Given the description of an element on the screen output the (x, y) to click on. 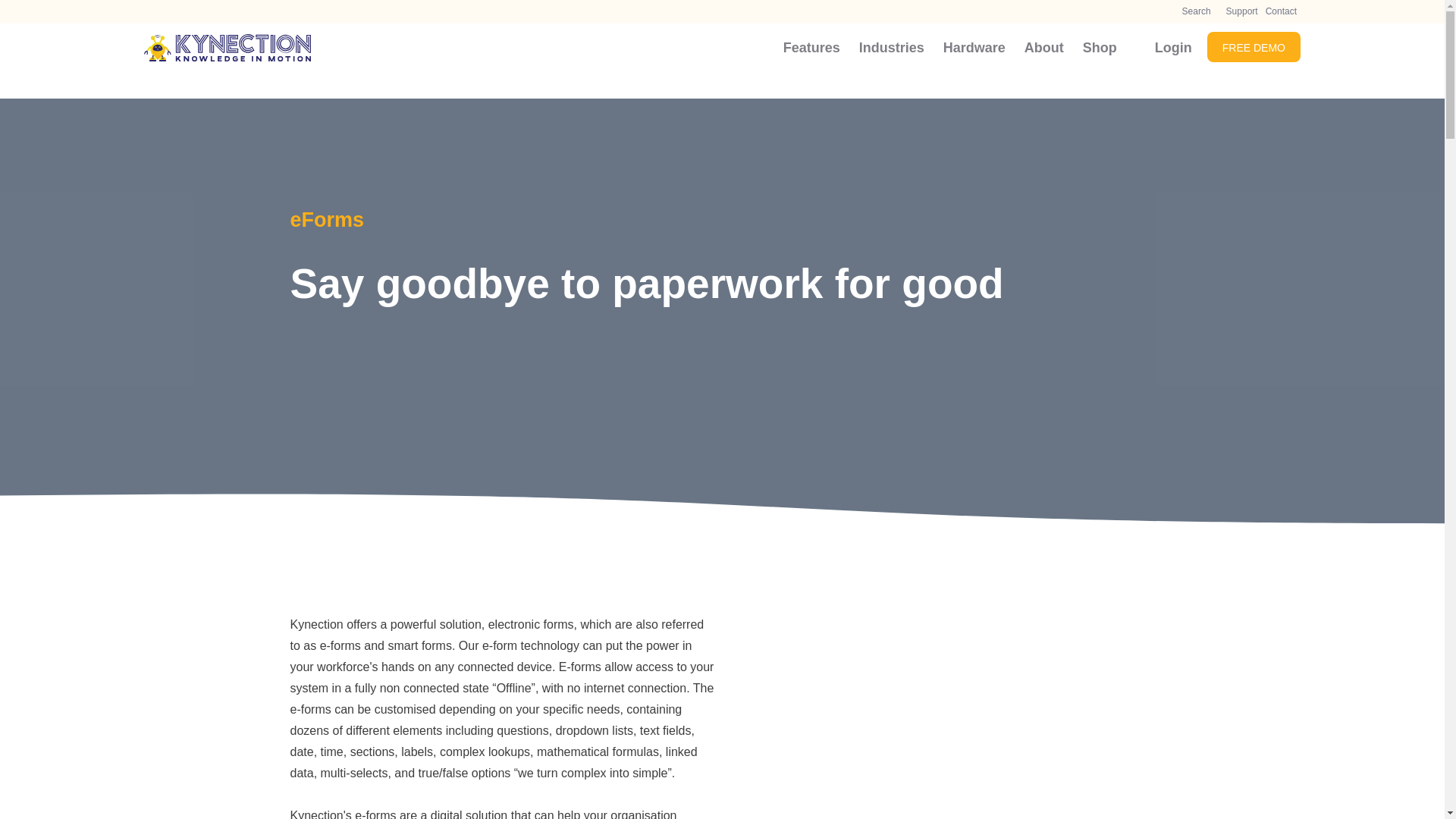
eForms GIF (944, 716)
Features (813, 66)
Hardware (976, 66)
Industries (893, 66)
